Given the description of an element on the screen output the (x, y) to click on. 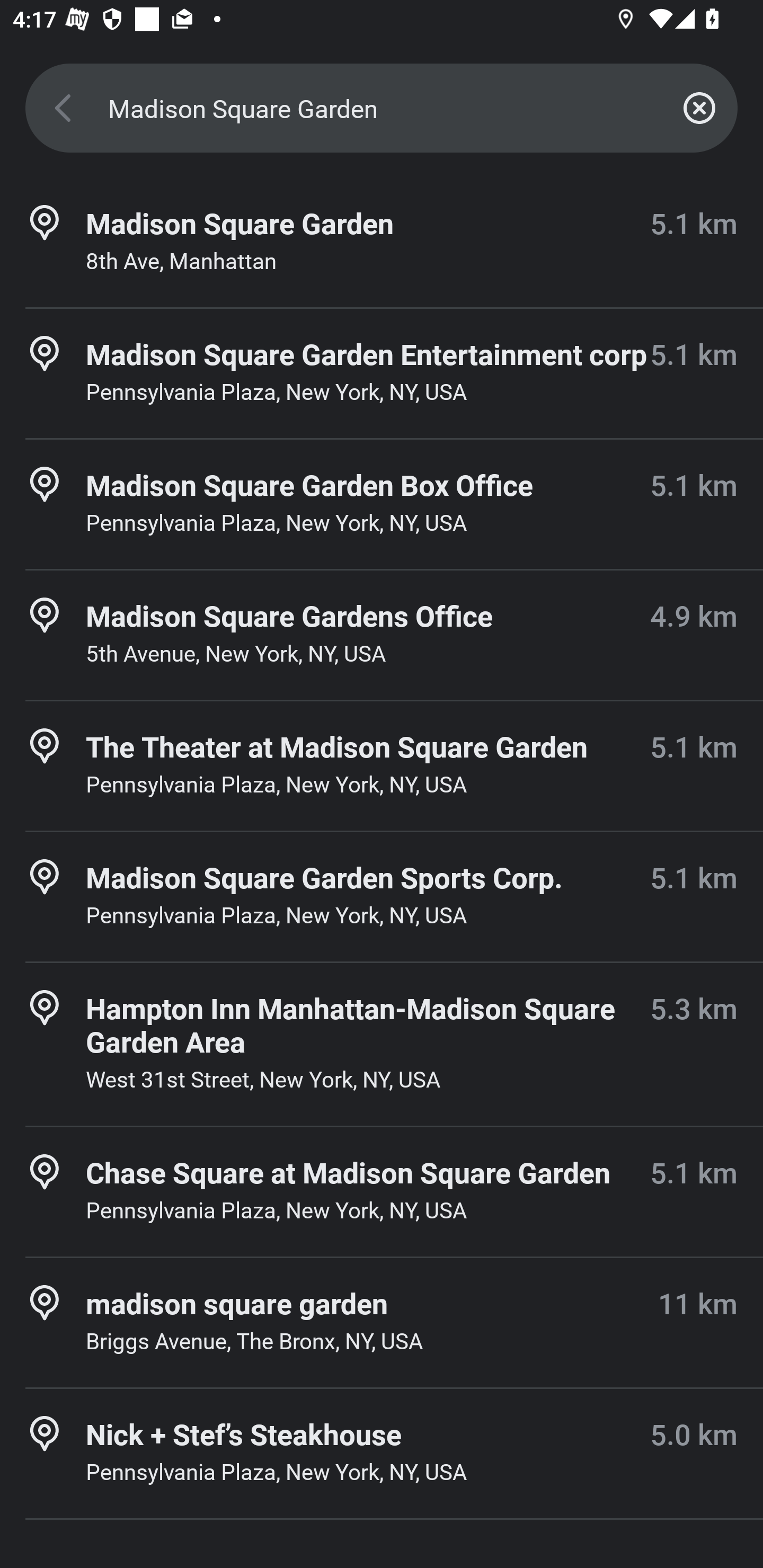
Madison Square Garden SEARCH_SCREEN_SEARCH_FIELD (381, 108)
Madison Square Garden 5.1 km 8th Ave, Manhattan (381, 242)
SUGGESTIONS_SHEET_DRAG_HANDLE (381, 860)
